Given the description of an element on the screen output the (x, y) to click on. 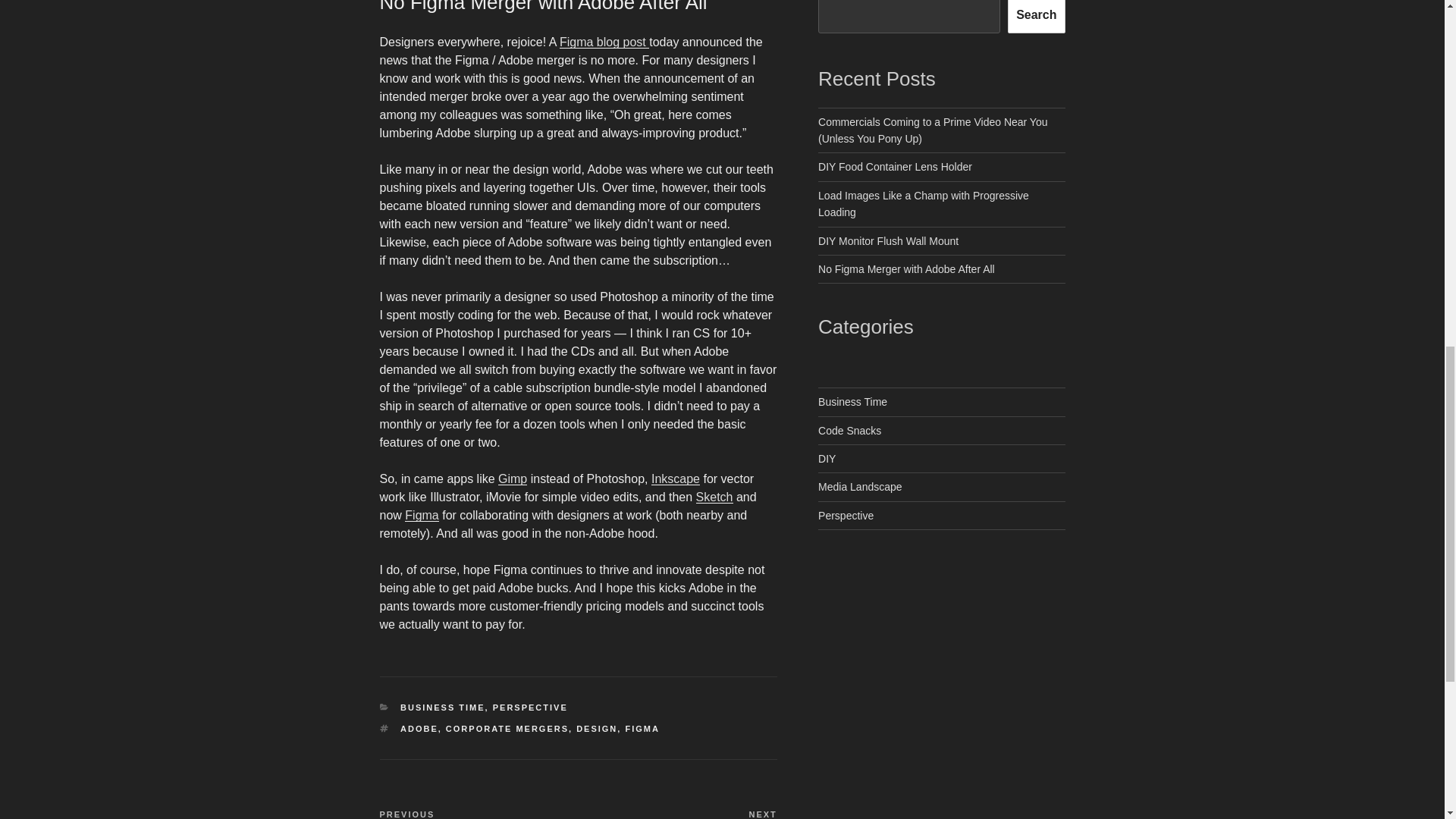
Figma blog post (604, 42)
Gimp (512, 478)
DIY (826, 458)
Code Snacks (849, 430)
CORPORATE MERGERS (507, 728)
Perspective (845, 515)
Search (1035, 16)
No Figma Merger with Adobe After All (906, 268)
Inkscape (675, 478)
ADOBE (419, 728)
DESIGN (596, 728)
DIY Food Container Lens Holder (895, 166)
Media Landscape (860, 486)
Sketch (714, 496)
FIGMA (641, 728)
